Given the description of an element on the screen output the (x, y) to click on. 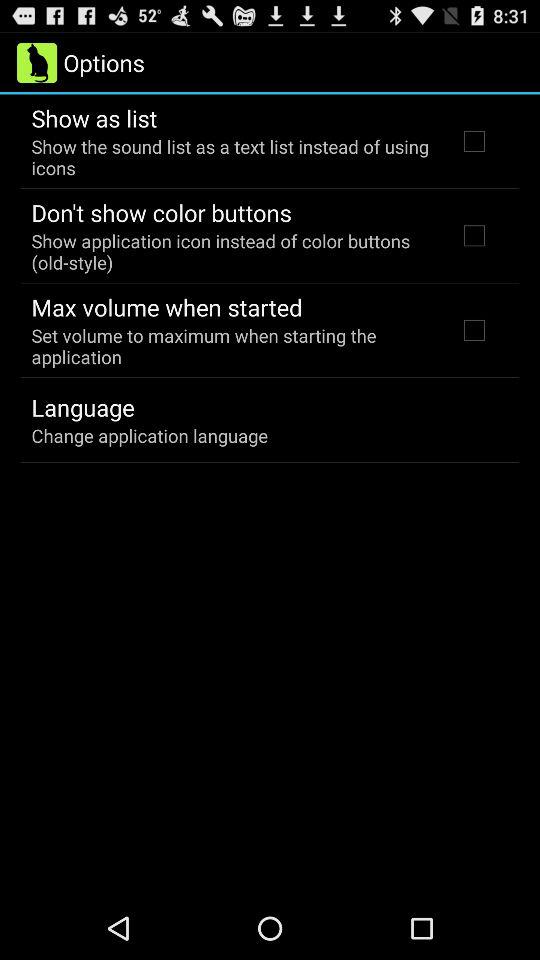
press app below the language (149, 435)
